Given the description of an element on the screen output the (x, y) to click on. 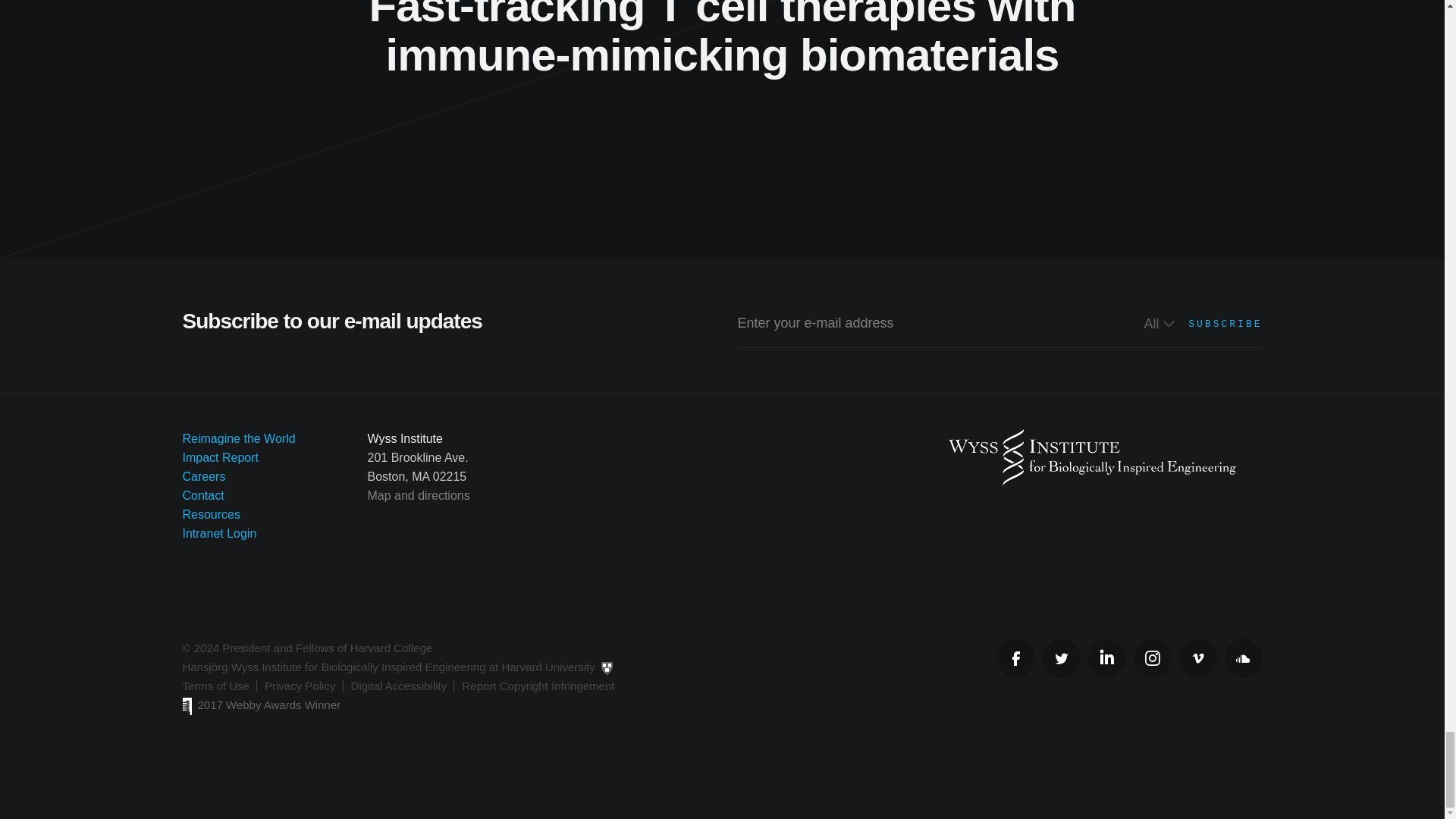
Subscribe to our e-mail updates (722, 348)
